Given the description of an element on the screen output the (x, y) to click on. 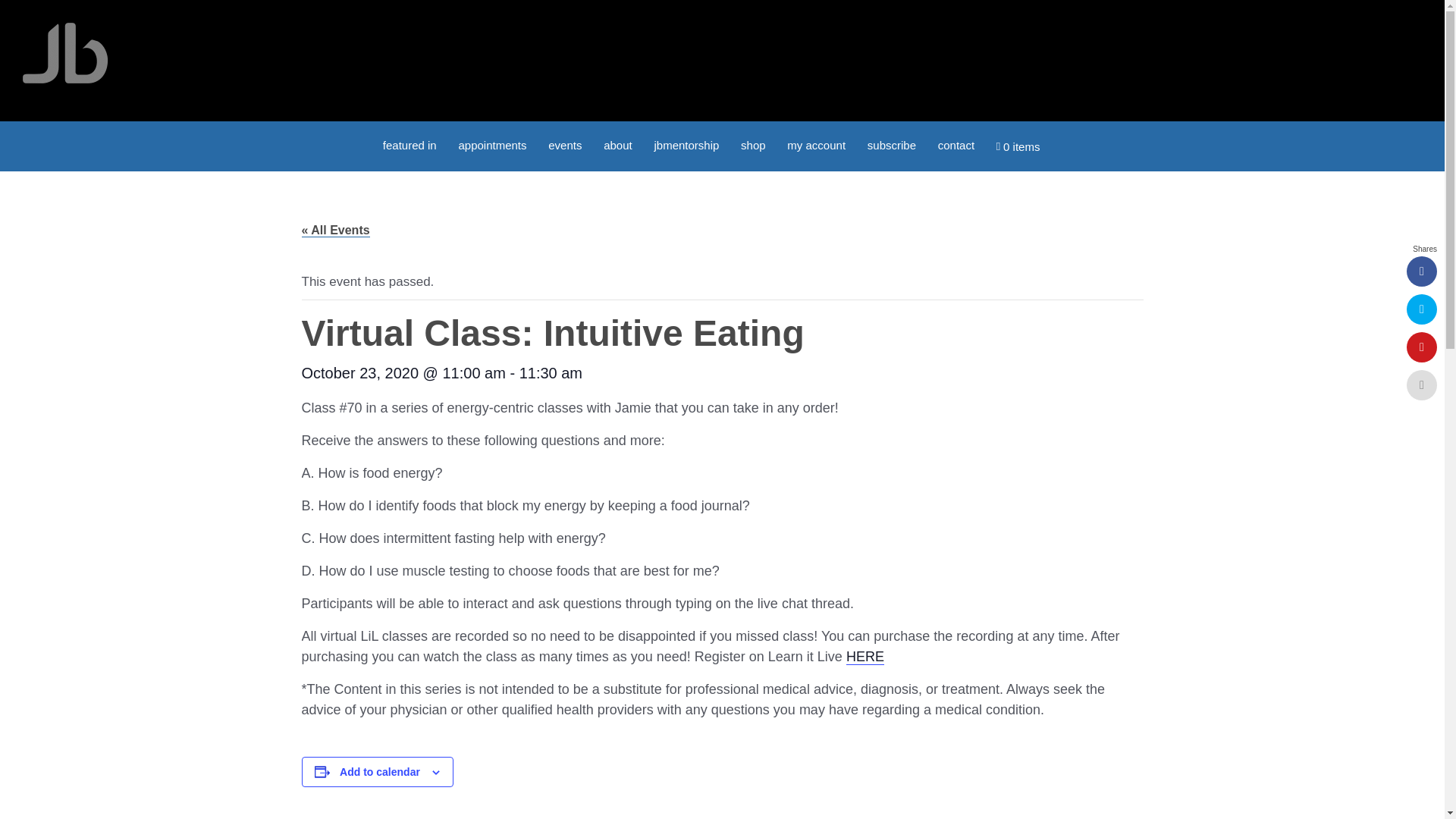
search (1061, 140)
0 items (1018, 146)
contact (956, 144)
jbmentorship (686, 144)
appointments (491, 144)
shop (753, 144)
Jamie Butler. The Everyday Medium (65, 52)
about (618, 144)
featured in (409, 144)
my account (815, 144)
